Given the description of an element on the screen output the (x, y) to click on. 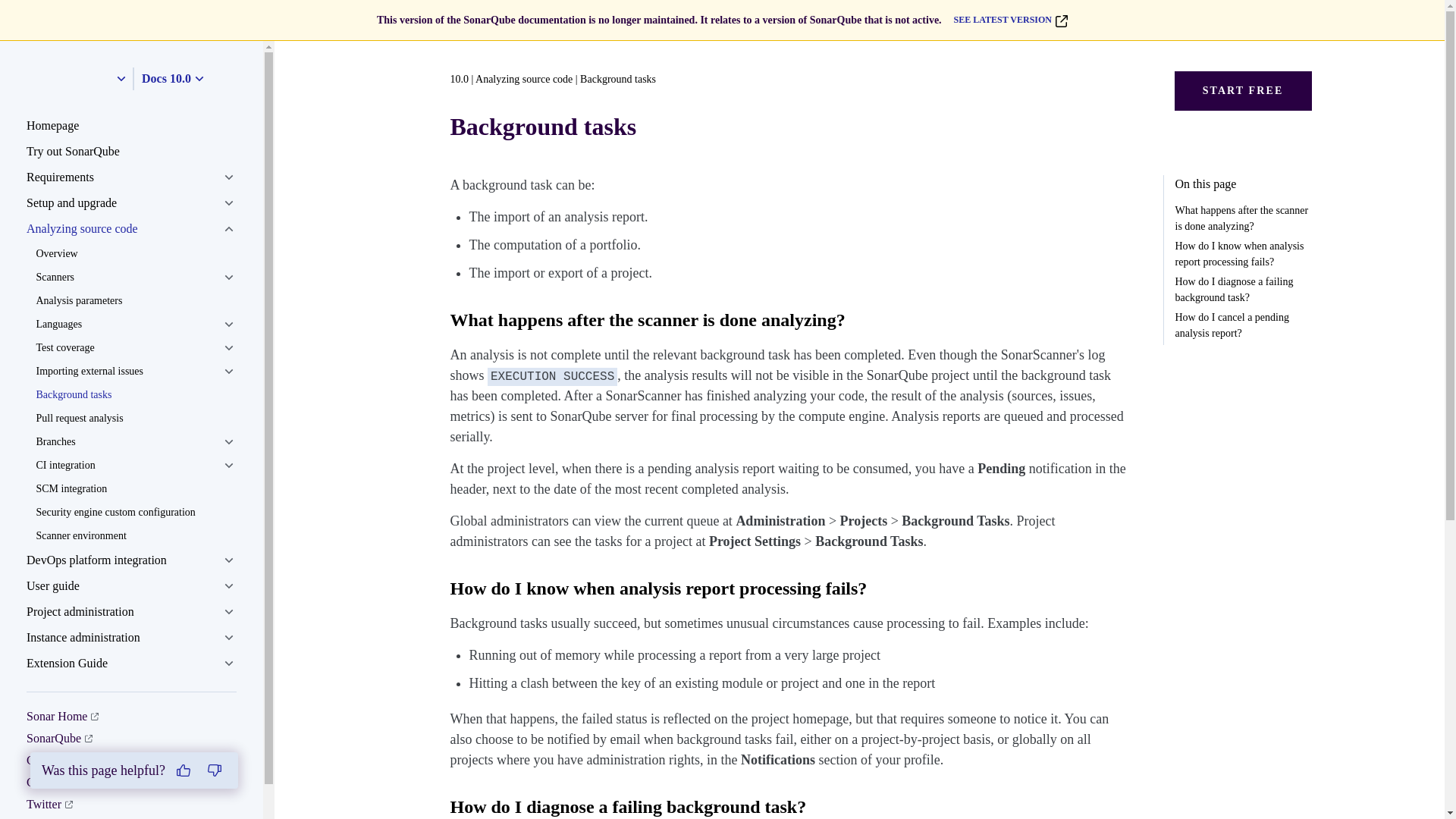
Test coverage (135, 347)
Requirements (131, 177)
How do I know when analysis report processing fails? (658, 587)
Pull request analysis (135, 417)
Background tasks (135, 394)
Analyzing source code (131, 228)
Twitter (49, 803)
Extension Guide (131, 663)
SonarQube (59, 738)
How do I diagnose a failing background task? (1242, 289)
Scanner environment (135, 535)
Community (61, 759)
Try out SonarQube (131, 151)
Twitter (49, 803)
Security engine custom configuration (135, 512)
